Given the description of an element on the screen output the (x, y) to click on. 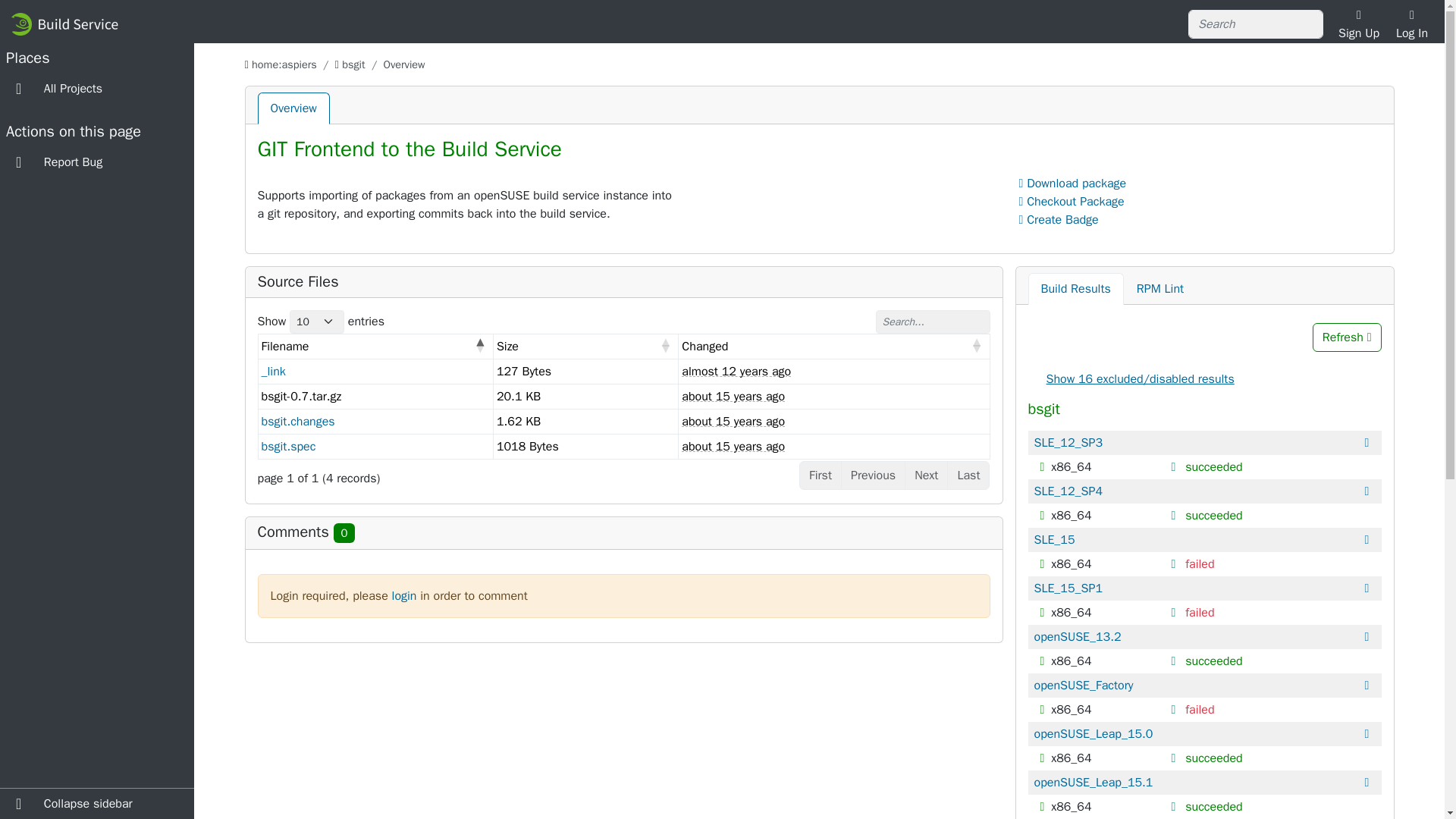
Overview (293, 108)
Log In (1412, 23)
failed (1199, 563)
Click to keep it open (1175, 467)
Refresh Build Results (1347, 337)
Sign Up (1358, 23)
Create Badge (1059, 219)
Checkout Package (1071, 201)
bsgit (353, 64)
Overview (293, 108)
